Given the description of an element on the screen output the (x, y) to click on. 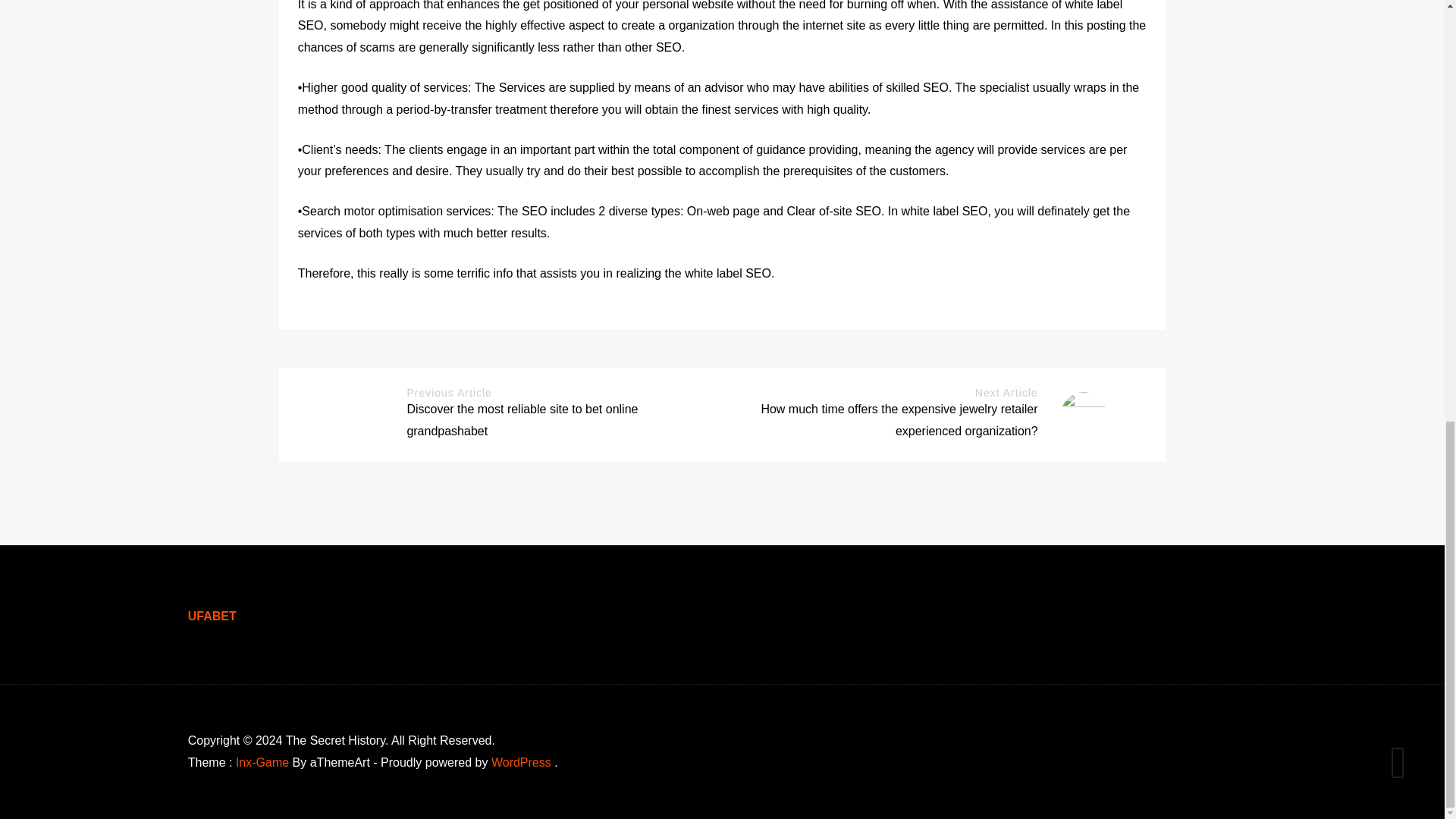
Discover the most reliable site to bet online grandpashabet (521, 419)
Inx-Game (261, 762)
WordPress (521, 762)
UFABET (211, 615)
